Given the description of an element on the screen output the (x, y) to click on. 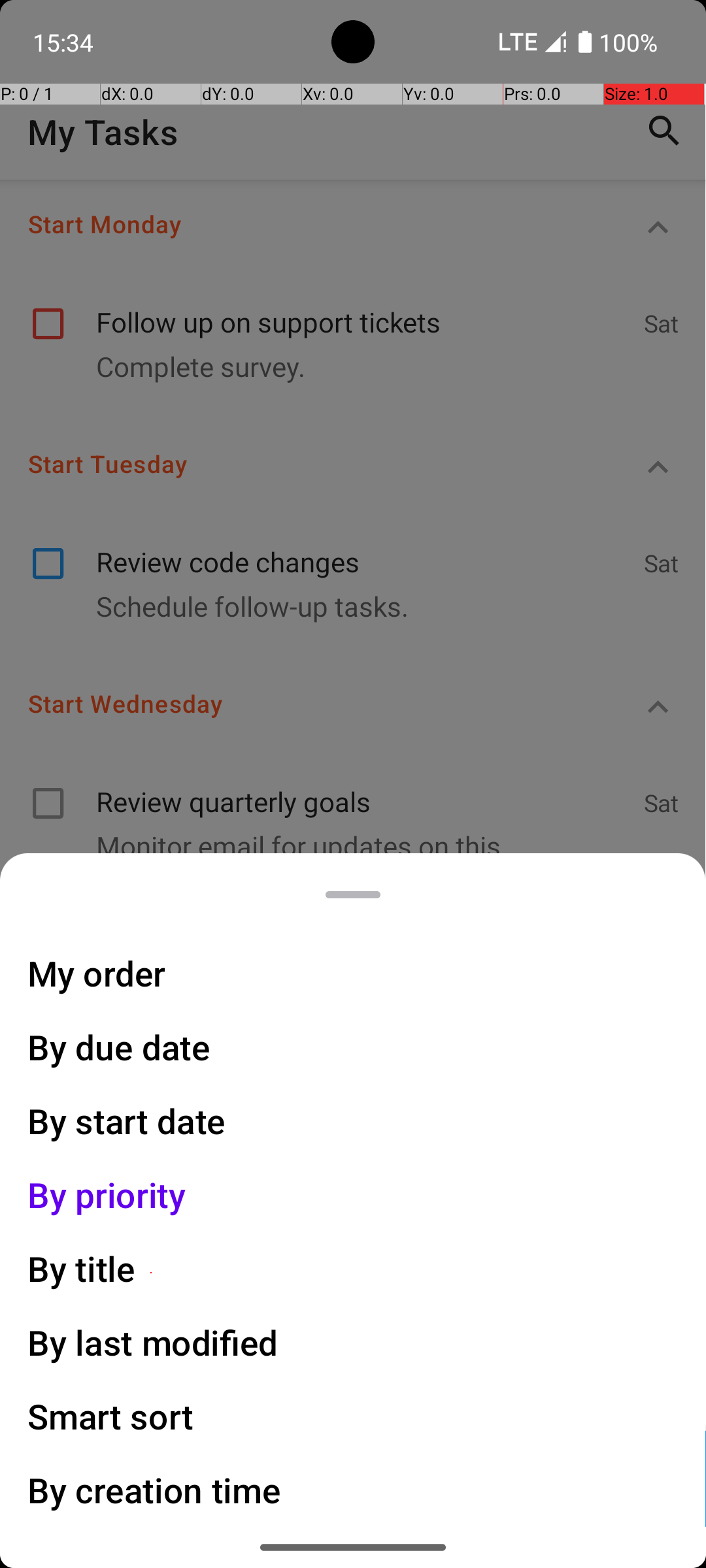
My order Element type: android.widget.TextView (96, 972)
By due date Element type: android.widget.TextView (119, 1046)
By start date Element type: android.widget.TextView (126, 1120)
By title Element type: android.widget.TextView (81, 1268)
By last modified Element type: android.widget.TextView (152, 1342)
By creation time Element type: android.widget.TextView (154, 1489)
